Given the description of an element on the screen output the (x, y) to click on. 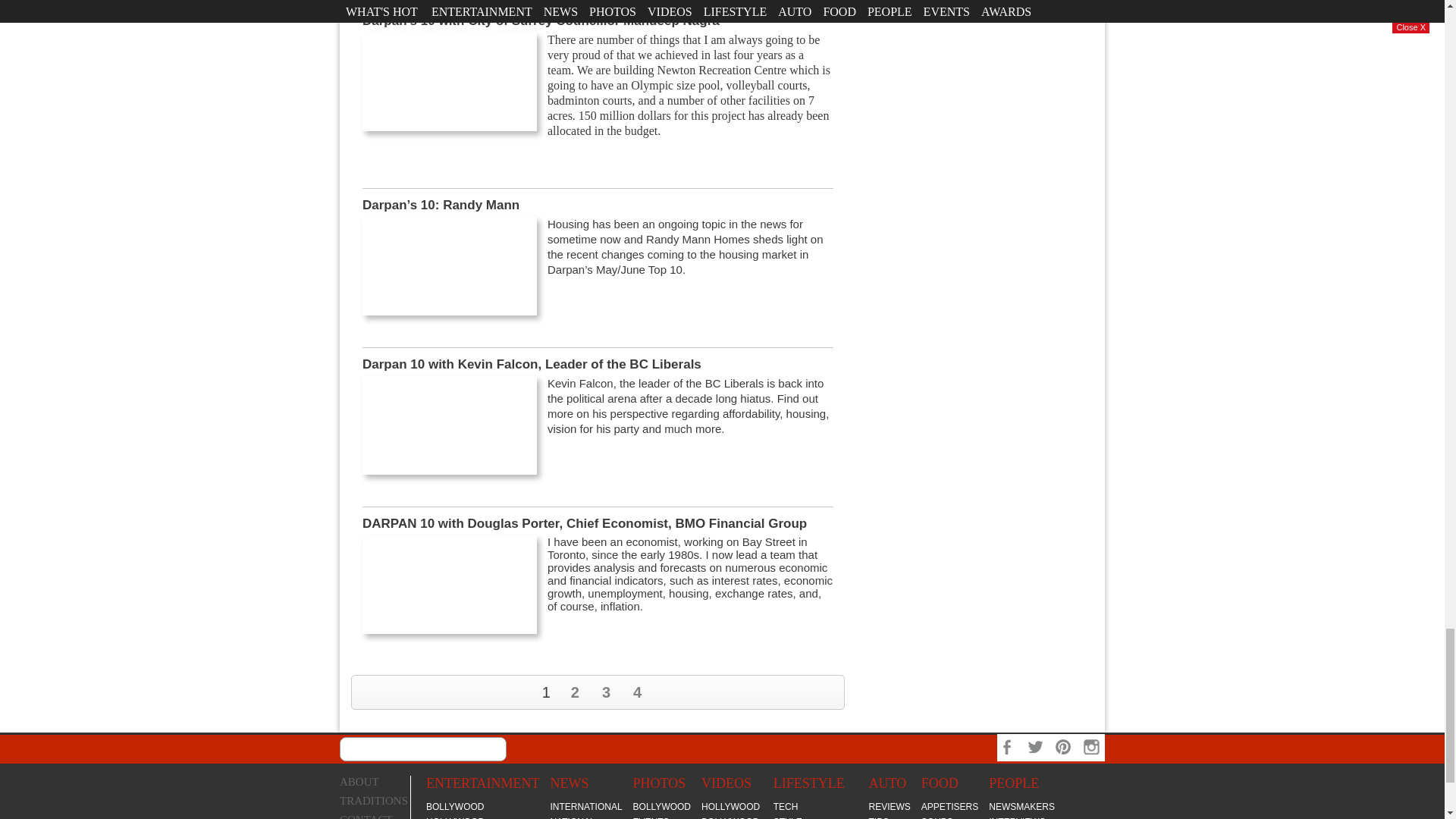
Prev (365, 691)
Next (830, 692)
